Given the description of an element on the screen output the (x, y) to click on. 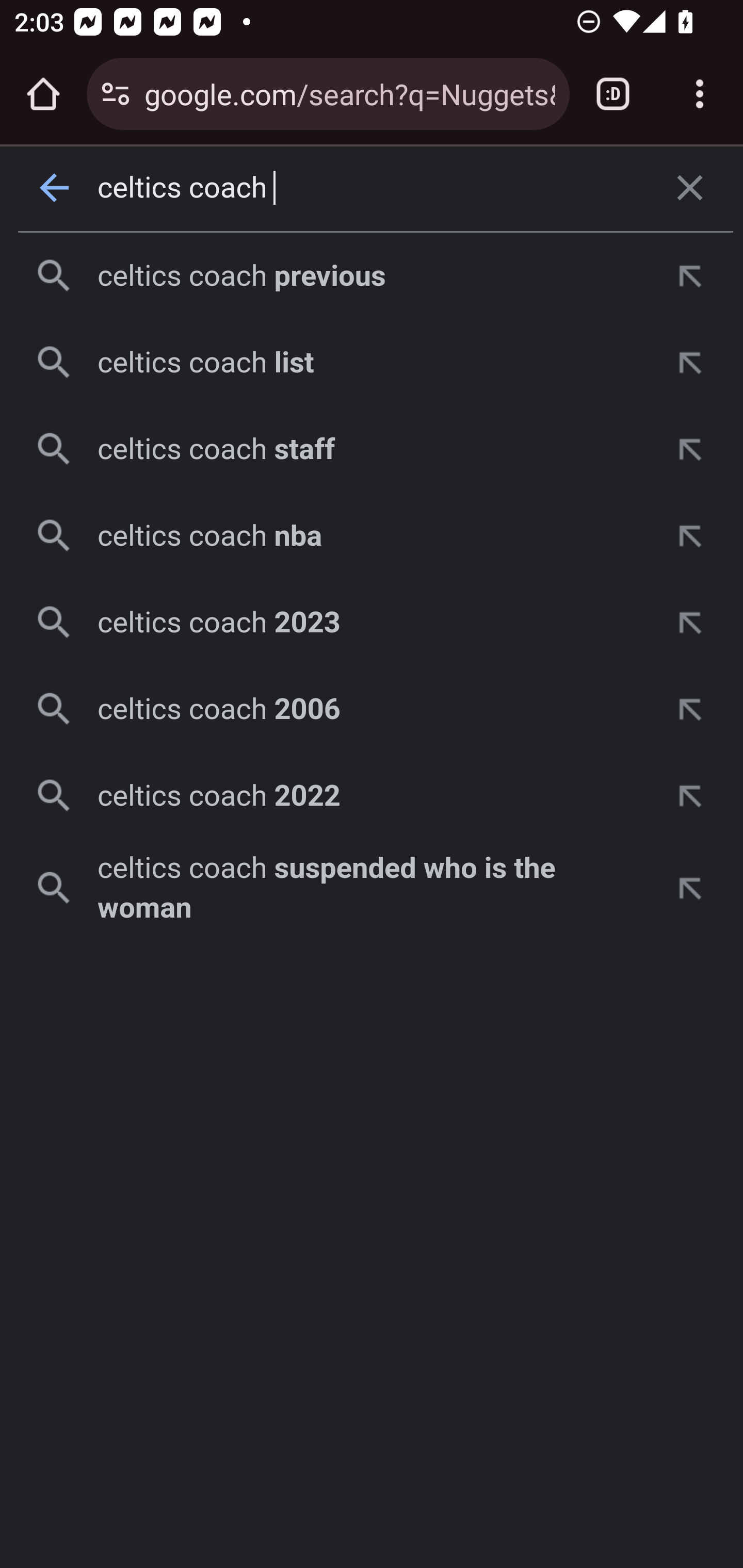
Open the home page (43, 93)
Connection is secure (115, 93)
Switch or close tabs (612, 93)
Customize and control Google Chrome (699, 93)
上一頁 (54, 188)
清除搜尋內容 (690, 188)
celtics coach  (372, 188)
